Given the description of an element on the screen output the (x, y) to click on. 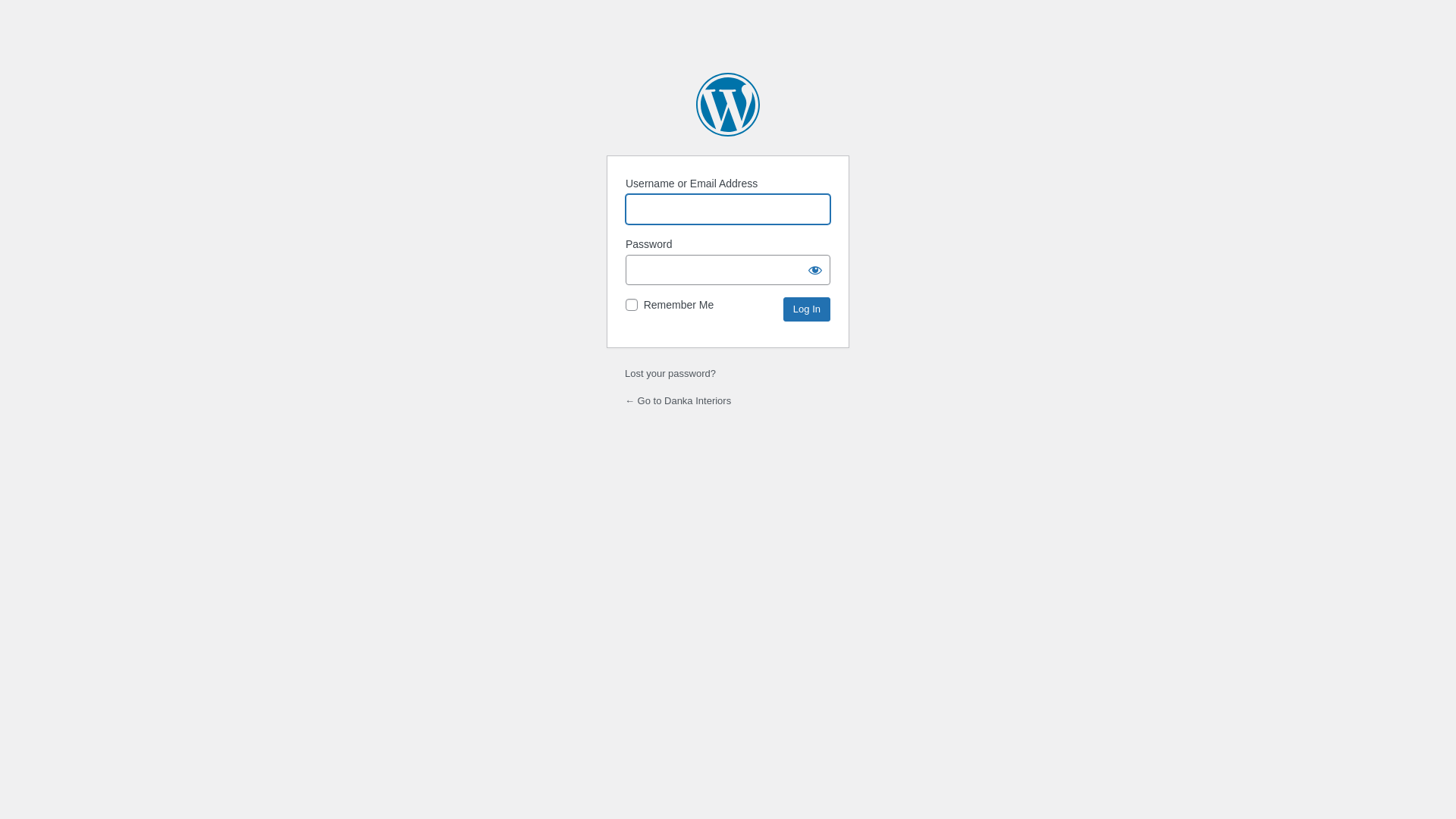
Powered by WordPress Element type: text (727, 104)
Log In Element type: text (806, 309)
Lost your password? Element type: text (669, 373)
